Given the description of an element on the screen output the (x, y) to click on. 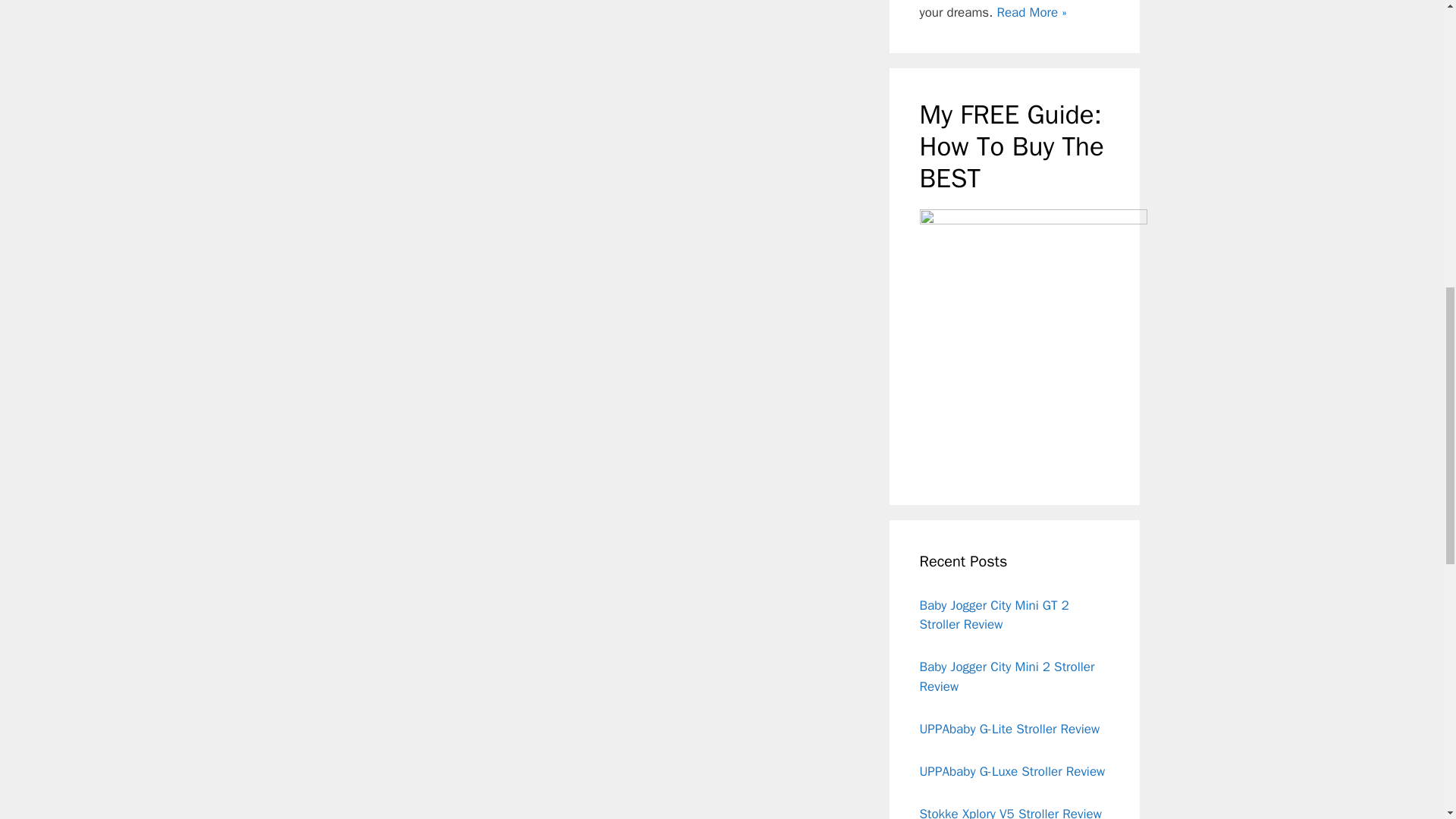
Baby Jogger City Mini 2 Stroller Review (1006, 676)
Baby Jogger City Mini GT 2 Stroller Review (993, 615)
UPPAbaby G-Lite Stroller Review (1008, 729)
Stokke Xplory V5 Stroller Review (1009, 812)
UPPAbaby G-Luxe Stroller Review (1011, 771)
